Given the description of an element on the screen output the (x, y) to click on. 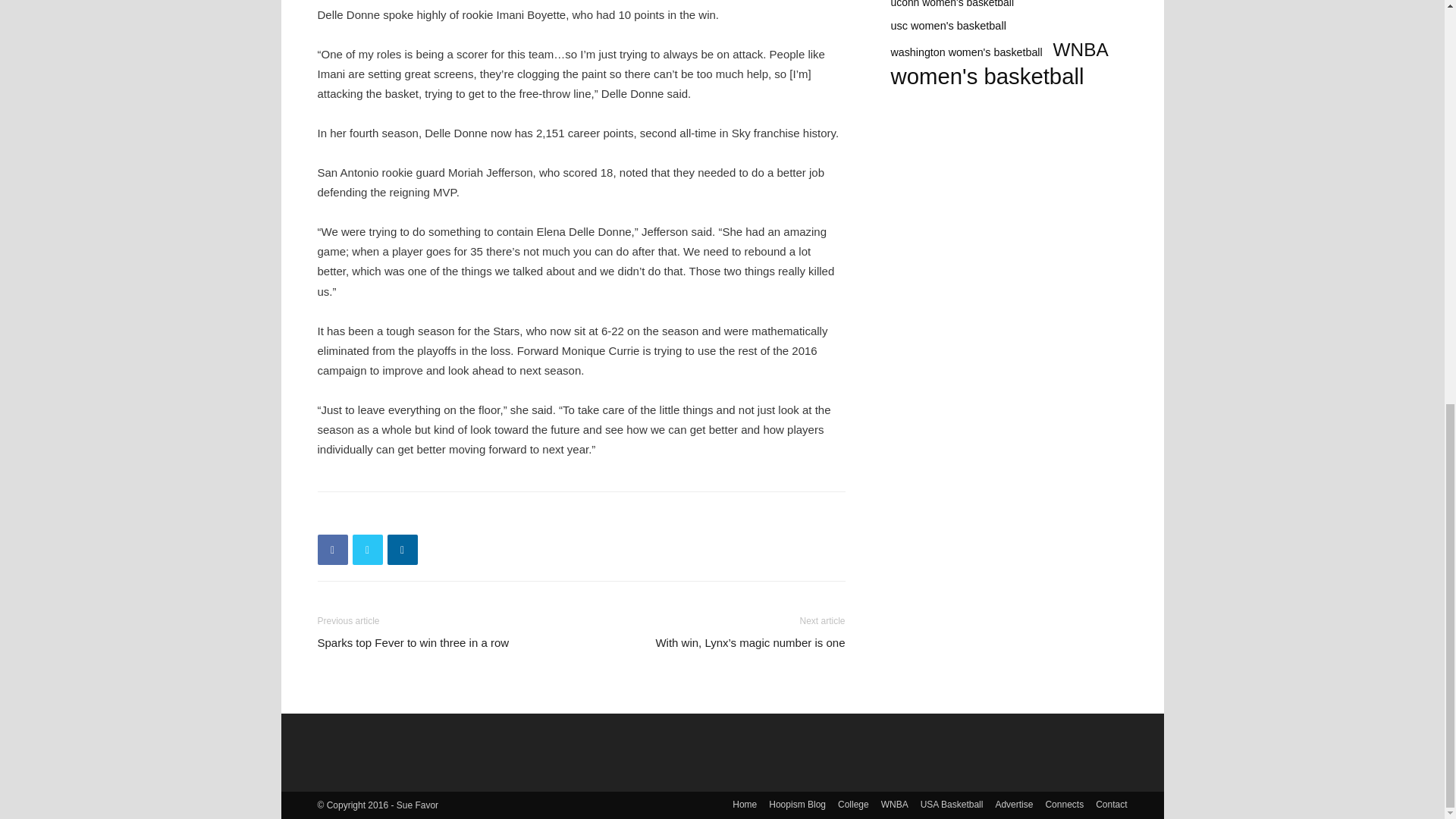
Sparks top Fever to win three in a row (412, 642)
Twitter (366, 549)
Facebook (332, 549)
bottomFacebookLike (430, 515)
Linkedin (401, 549)
